Given the description of an element on the screen output the (x, y) to click on. 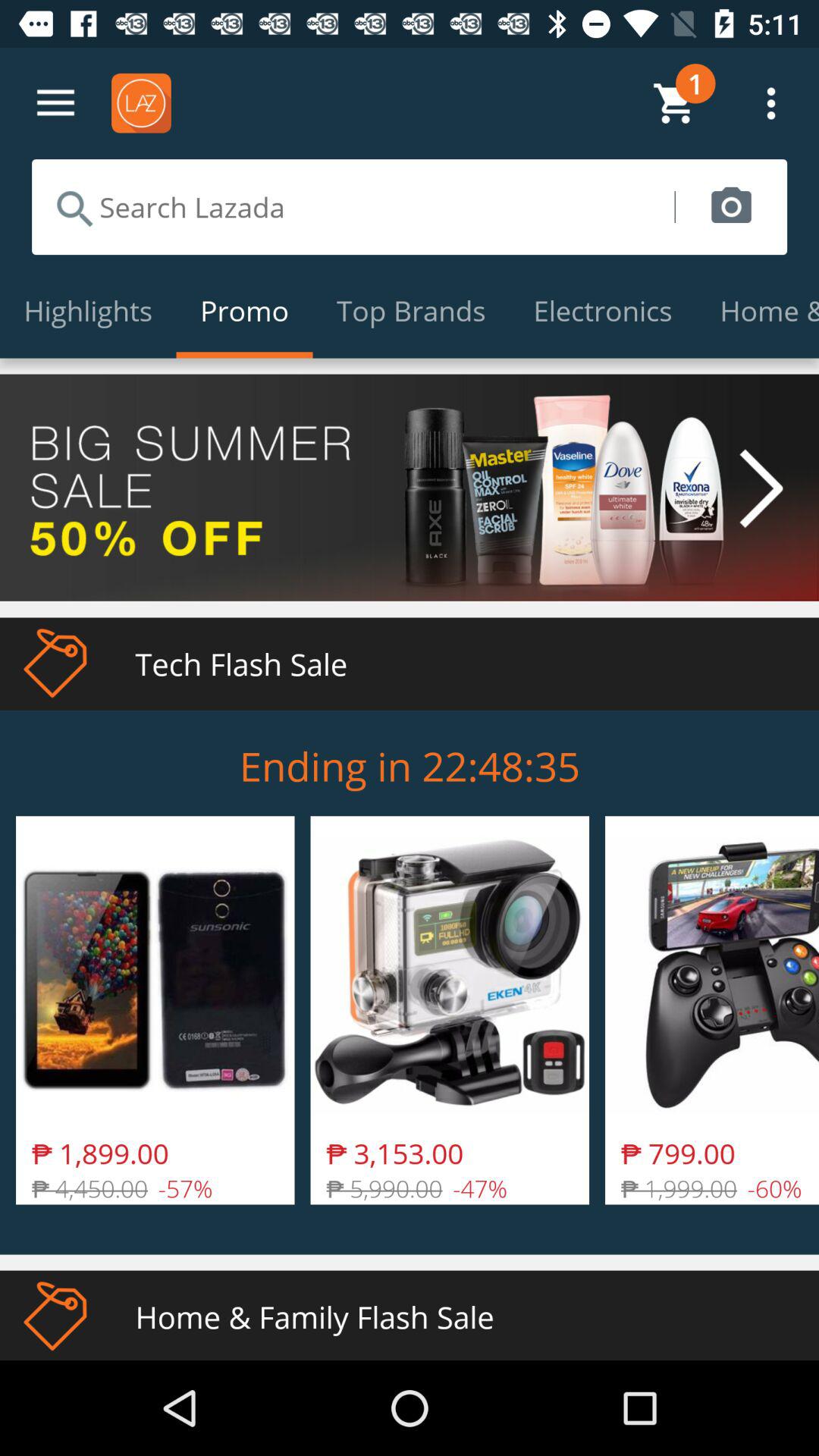
click to see advertisement details (409, 487)
